Given the description of an element on the screen output the (x, y) to click on. 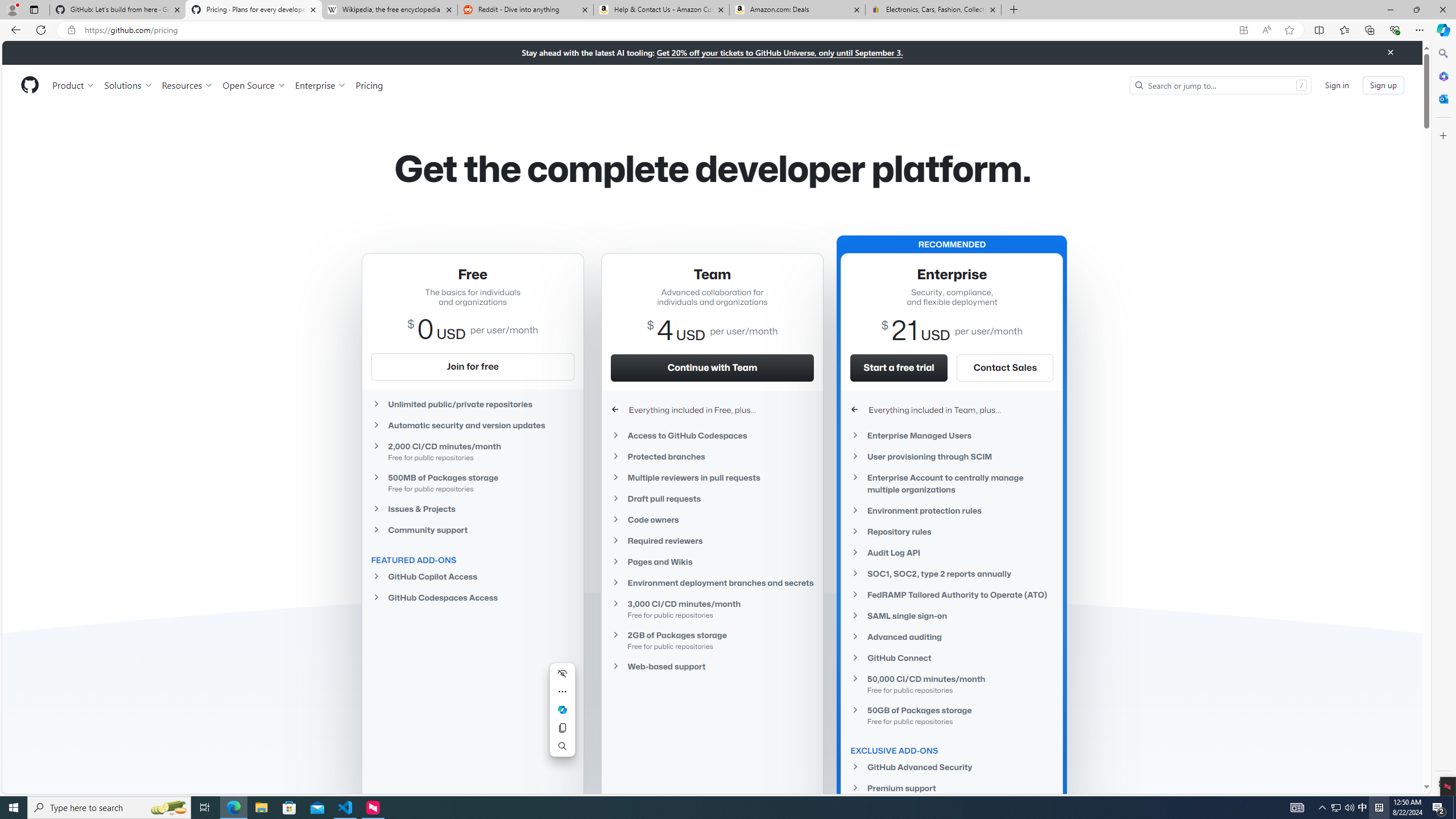
Open Source (254, 84)
Product (74, 84)
Access to GitHub Codespaces (711, 435)
Mini menu on text selection (561, 716)
2,000 CI/CD minutes/month Free for public repositories (473, 451)
Hide menu (562, 673)
GitHub Advanced Security (952, 767)
Environment protection rules (952, 510)
Ask Copilot (562, 710)
Advanced auditing (952, 636)
Enterprise Managed Users (952, 435)
